Given the description of an element on the screen output the (x, y) to click on. 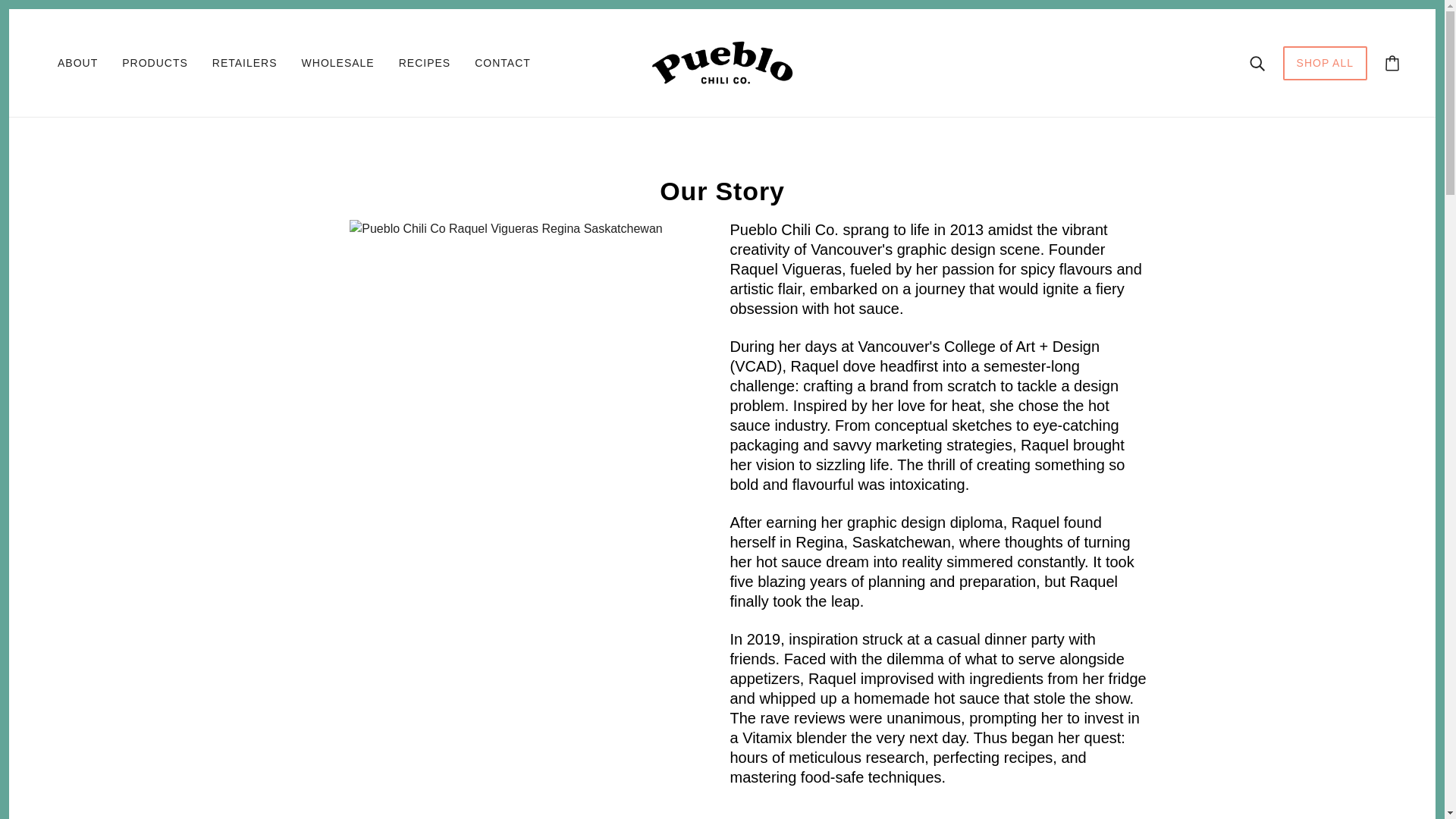
SHOP ALL (1324, 69)
CONTACT (503, 62)
PRODUCTS (155, 62)
WHOLESALE (338, 62)
ABOUT (77, 62)
RETAILERS (244, 62)
Pueblo Chili Co Raquel Vigueras Regina Saskatchewan (505, 229)
RECIPES (425, 62)
